Given the description of an element on the screen output the (x, y) to click on. 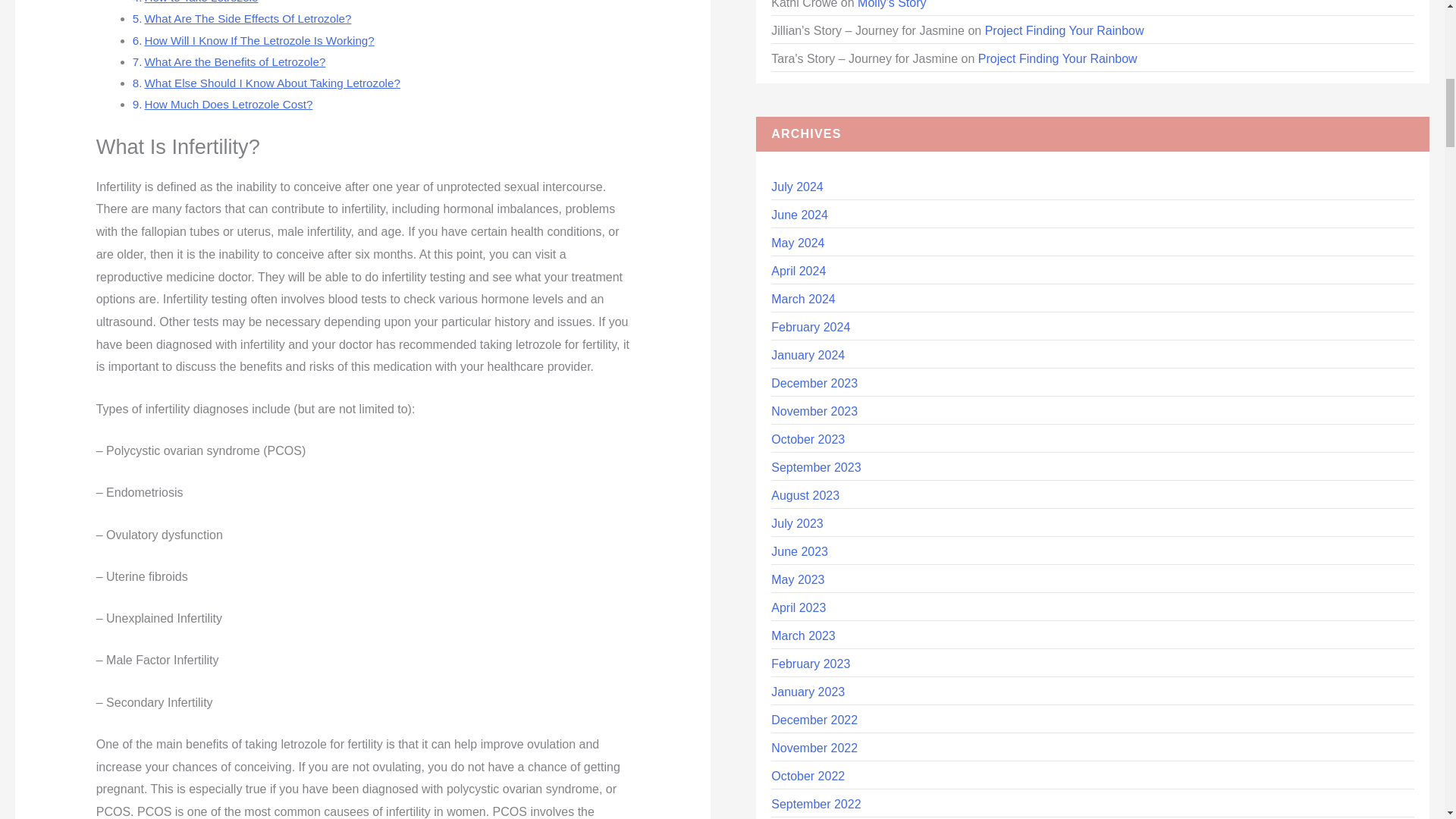
How Much Does Letrozole Cost? (228, 103)
How Will I Know If The Letrozole Is Working? (259, 40)
What Else Should I Know About Taking Letrozole? (271, 82)
How to Take Letrozole (200, 2)
What Are the Benefits of Letrozole? (234, 61)
What Else Should I Know About Taking Letrozole? (271, 82)
What Are The Side Effects Of Letrozole? (247, 18)
What Are The Side Effects Of Letrozole? (247, 18)
How Will I Know If The Letrozole Is Working? (259, 40)
How Much Does Letrozole Cost? (228, 103)
How to Take Letrozole (200, 2)
What Are the Benefits of Letrozole? (234, 61)
